Given the description of an element on the screen output the (x, y) to click on. 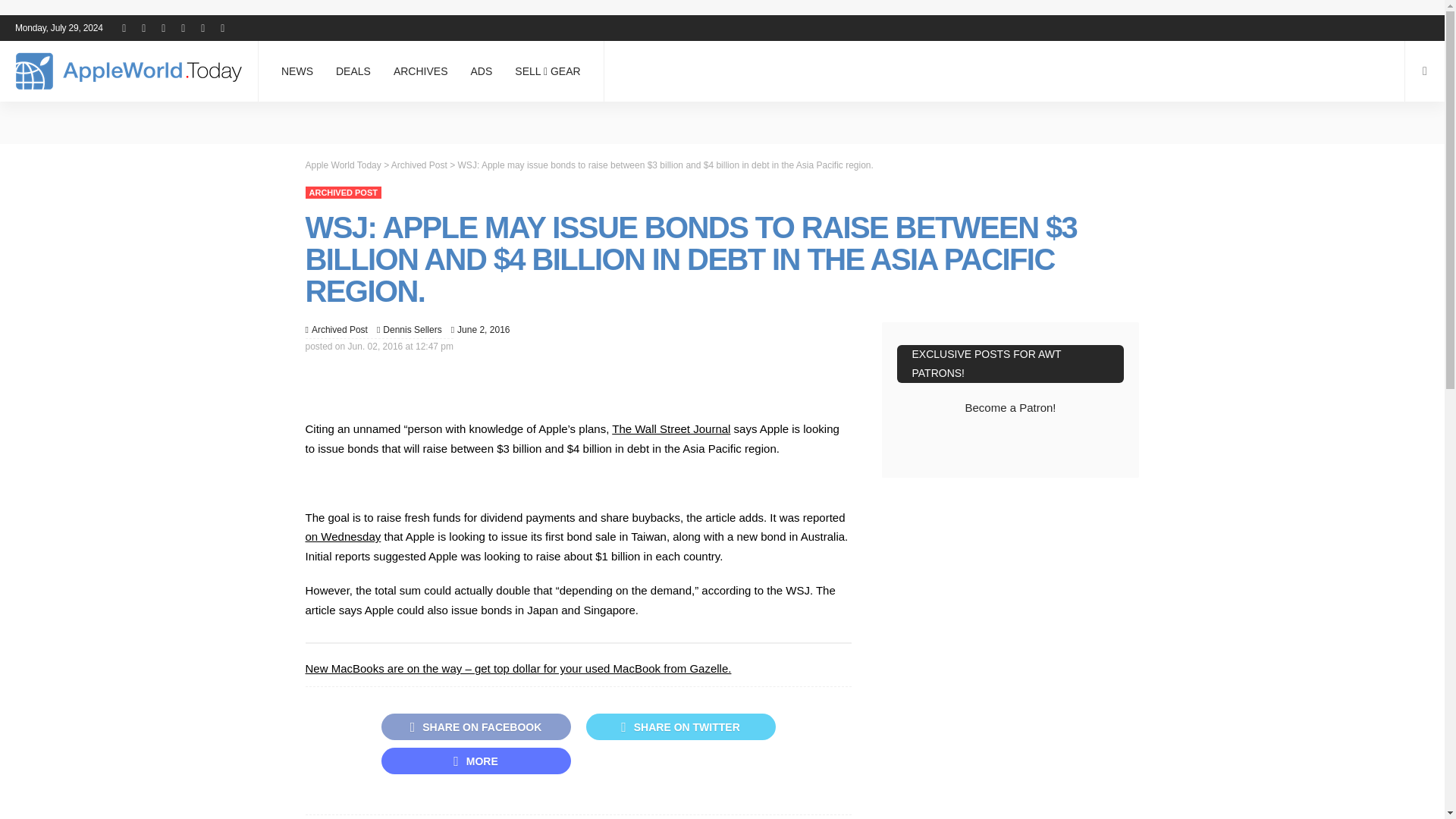
Go to Apple World Today. (342, 163)
Go to the Archived Post Category archives. (418, 163)
Archived Post (342, 192)
Archived Post (339, 329)
Apple World Today (128, 70)
